Given the description of an element on the screen output the (x, y) to click on. 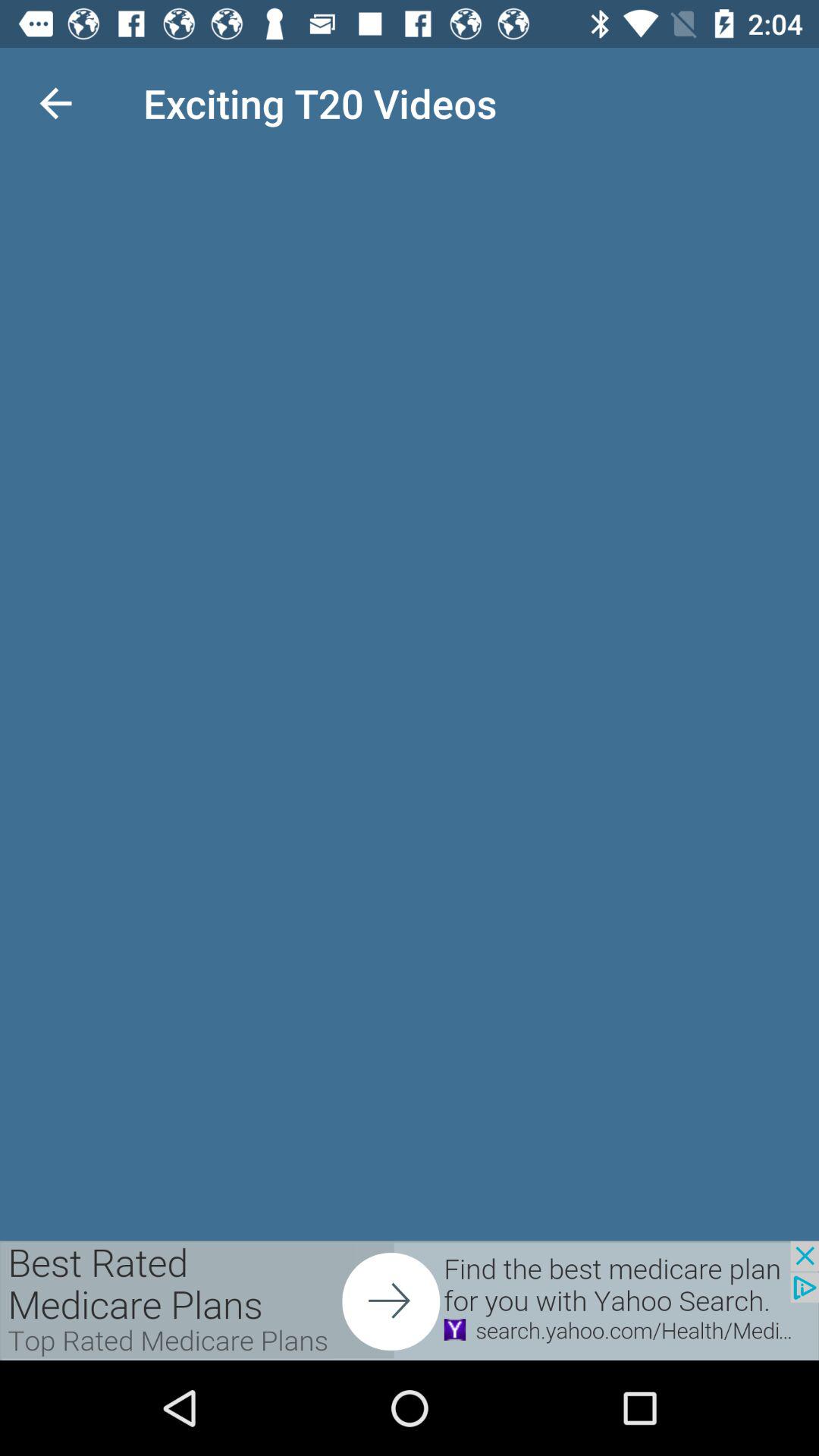
view medicare plans on search.yahoo.com (409, 1300)
